Given the description of an element on the screen output the (x, y) to click on. 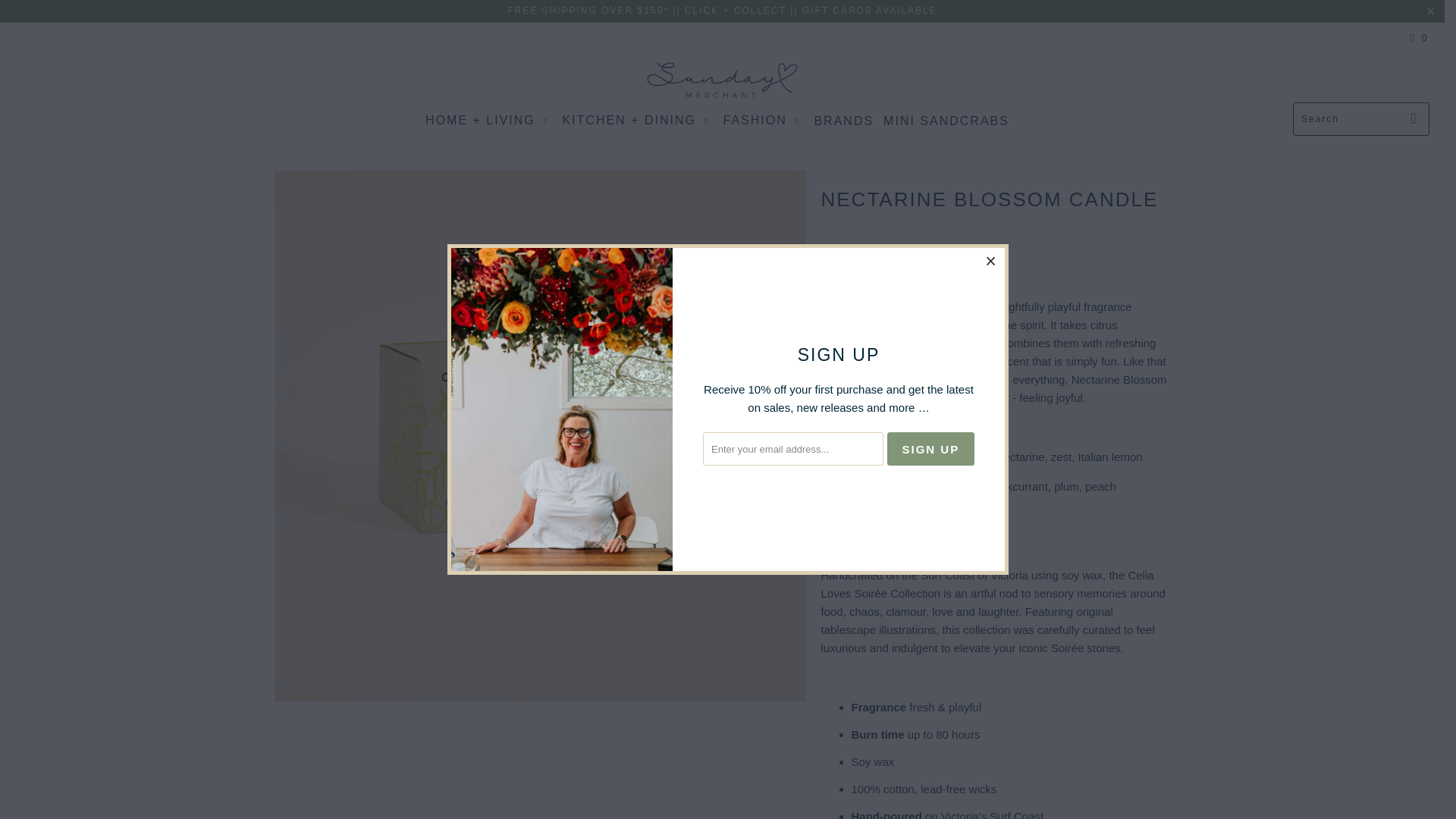
Sunday Merchant (722, 81)
Sign Up (930, 449)
